Given the description of an element on the screen output the (x, y) to click on. 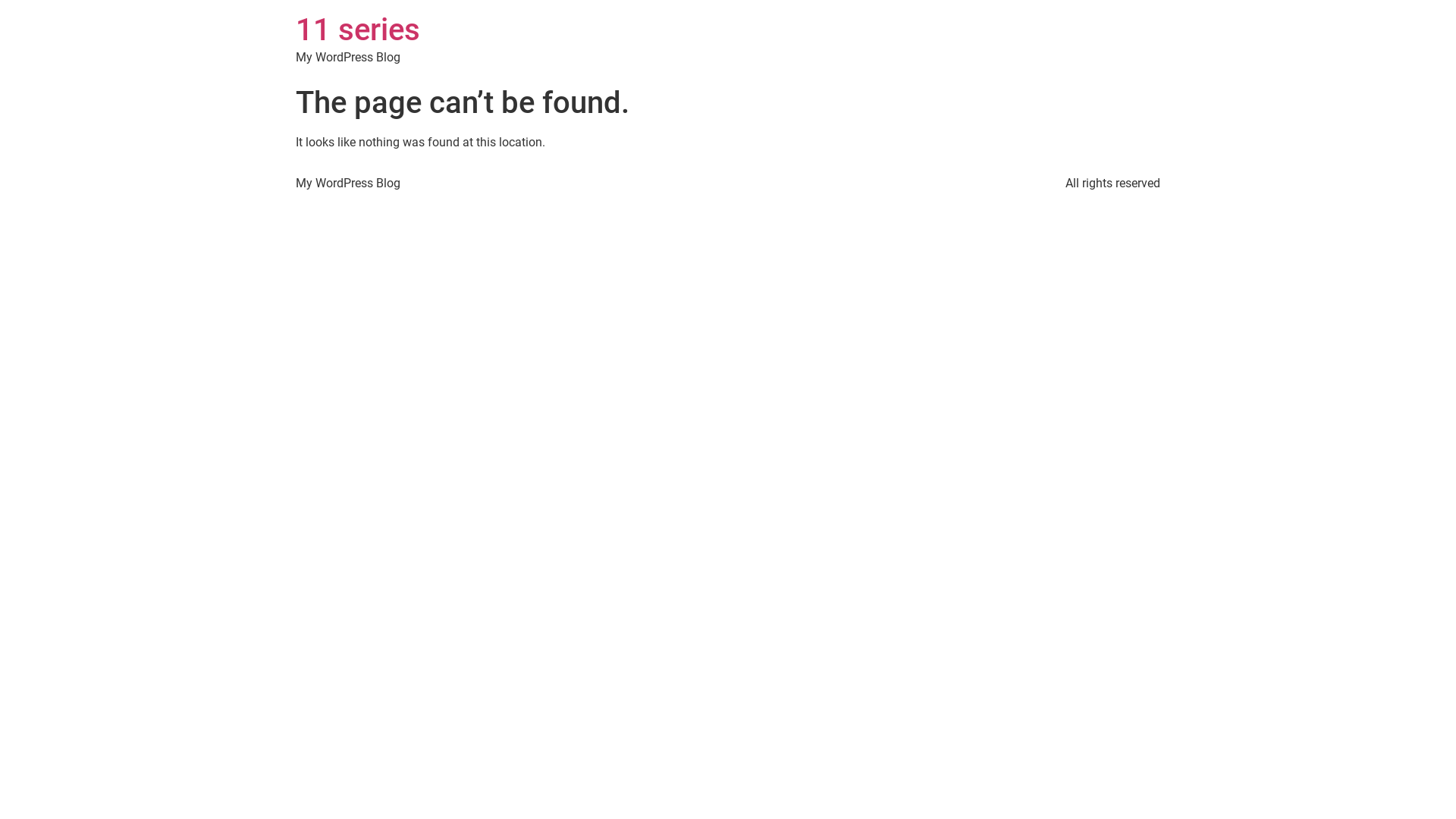
11 series Element type: text (357, 29)
